Given the description of an element on the screen output the (x, y) to click on. 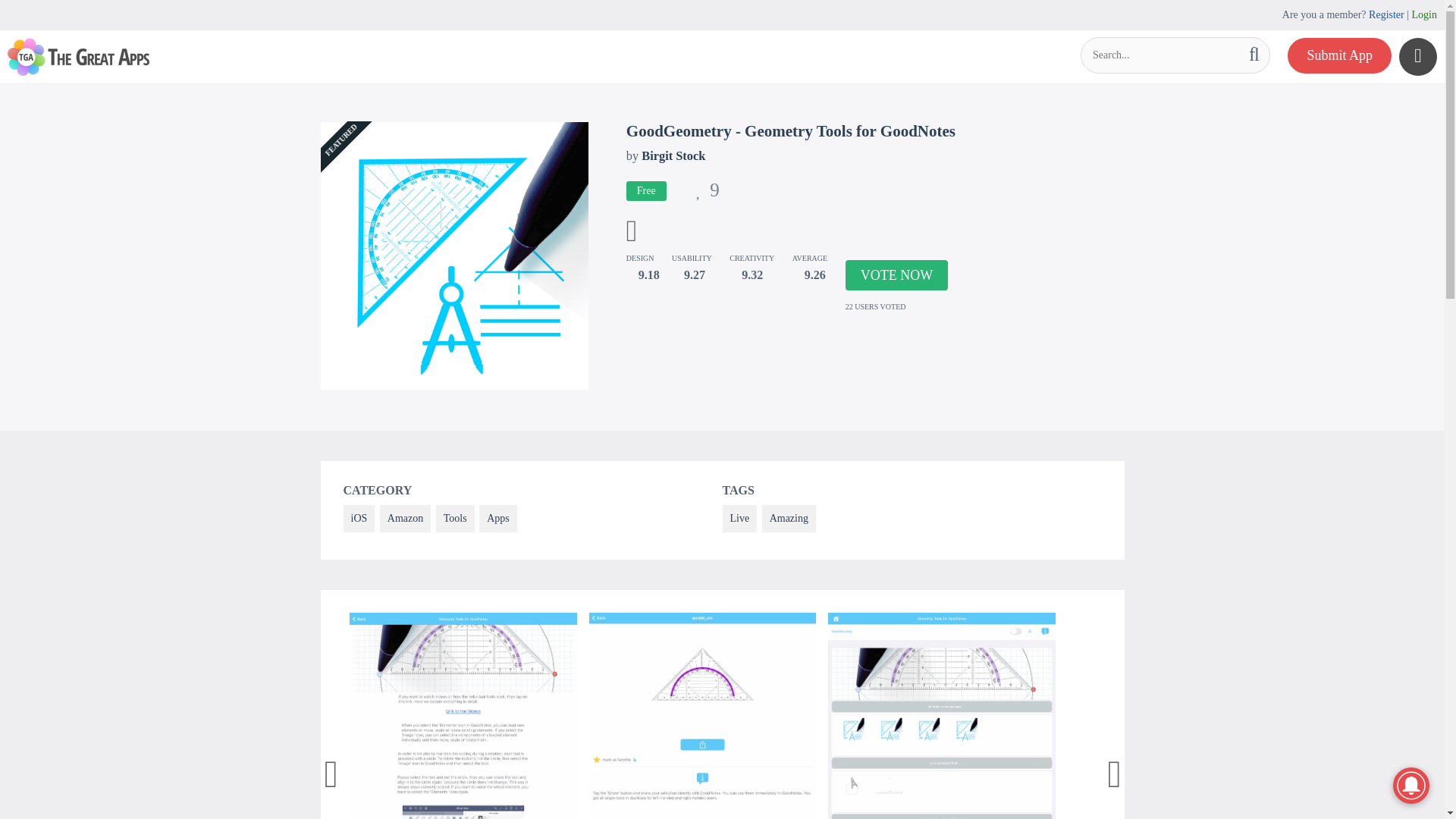
The Great Apps (78, 56)
Login (1424, 14)
Submit App (1339, 55)
Register (1386, 14)
Favourite (707, 193)
